Given the description of an element on the screen output the (x, y) to click on. 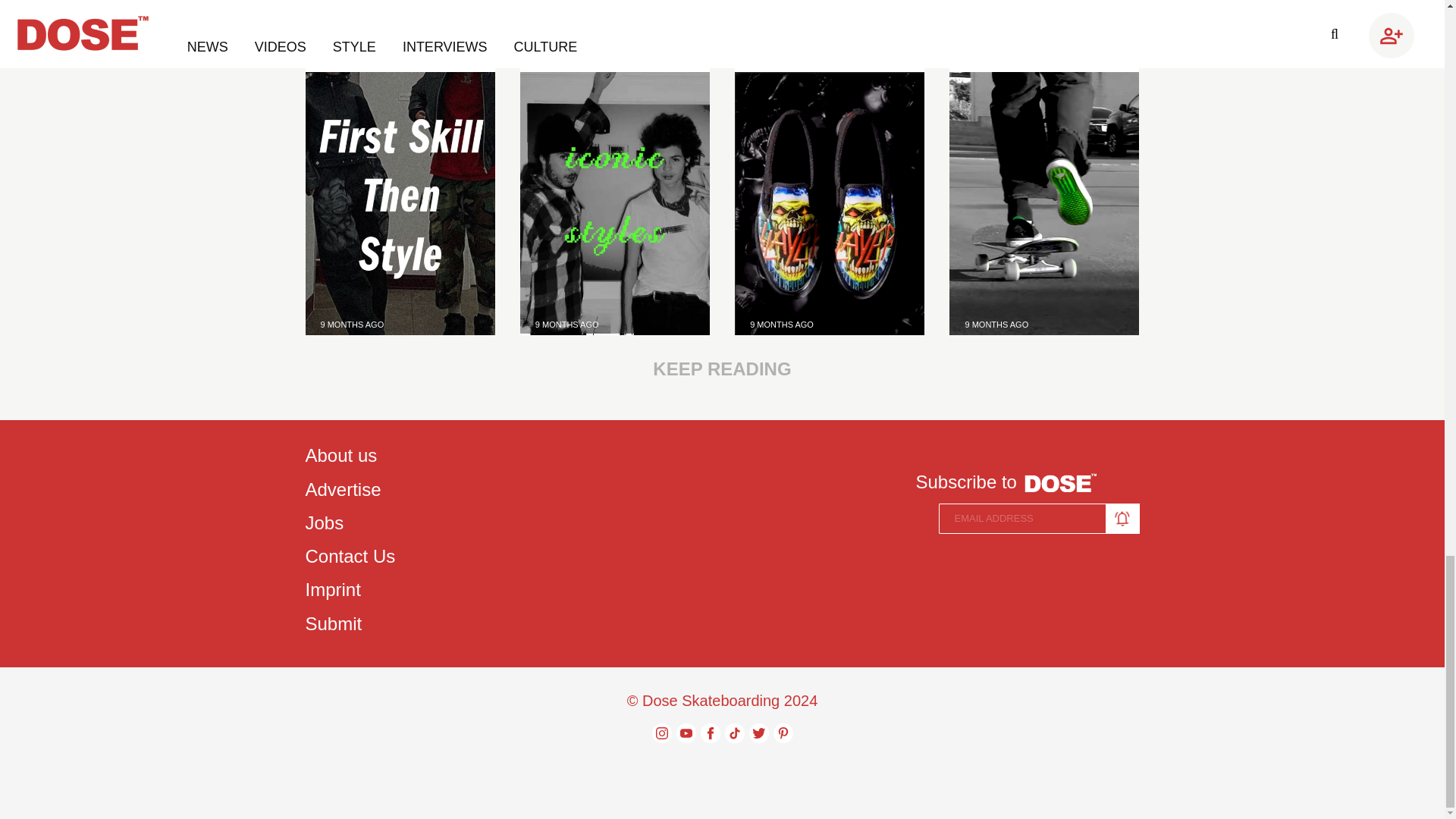
Advertise (349, 489)
Slayer's Iconic Art Meets Skater Style in DC Shoes Collab (829, 202)
First Skill, Then Style (399, 2)
KEEP READING (721, 368)
ICONIC MOMENTS IN SKATEBOARDING FASHION (614, 11)
Load More Articles (721, 368)
31.10.23 07:08 (781, 324)
Jobs (349, 523)
Iconic Moments in Skateboarding Fashion (614, 11)
27.10.23 12:32 (995, 324)
FIRST SKILL, THEN STYLE (399, 2)
Slayer's Iconic Art Meets Skater Style in DC Shoes Collab (828, 11)
02.11.23 13:43 (566, 324)
SLAYER'S ICONIC ART MEETS SKATER STYLE IN DC SHOES COLLAB (828, 11)
First Skill, Then Style (399, 202)
